Given the description of an element on the screen output the (x, y) to click on. 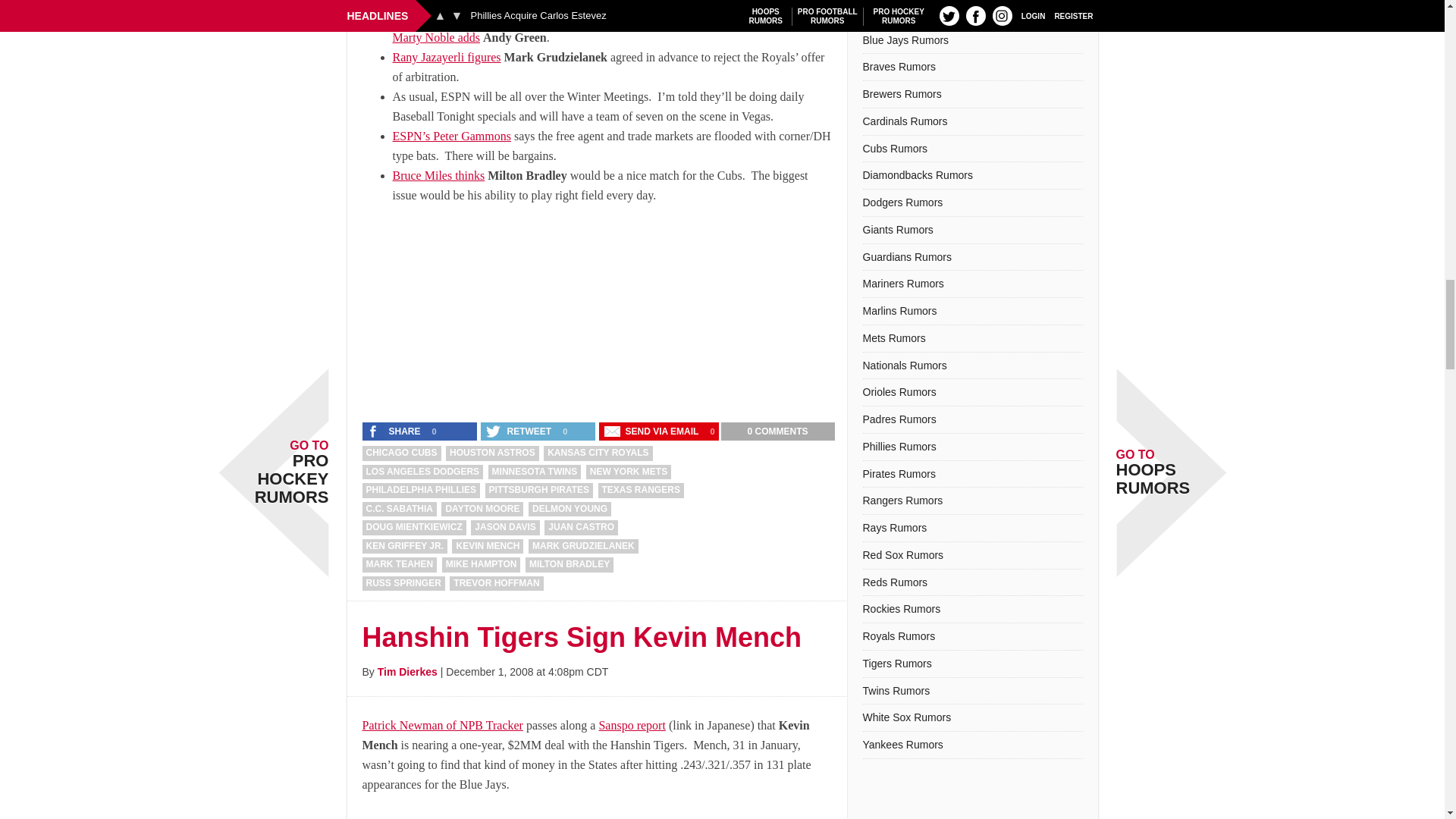
Send Odds and Ends: Griffey, Springer, Hoffman with an email (652, 431)
